Given the description of an element on the screen output the (x, y) to click on. 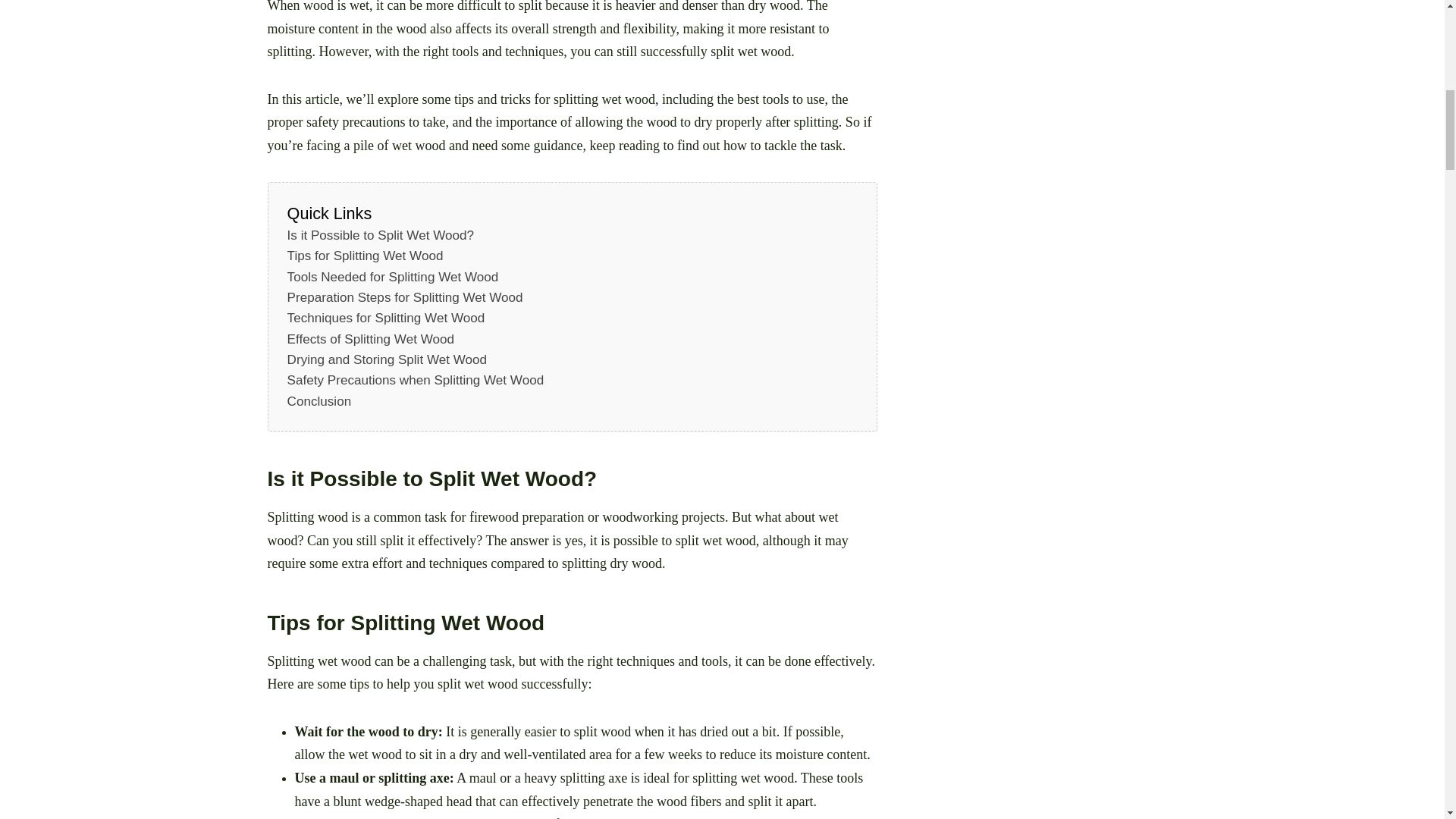
Effects of Splitting Wet Wood (370, 339)
Conclusion (319, 401)
Techniques for Splitting Wet Wood (385, 317)
Conclusion (319, 401)
Tips for Splitting Wet Wood (365, 255)
Preparation Steps for Splitting Wet Wood (404, 297)
Is it Possible to Split Wet Wood? (380, 235)
Is it Possible to Split Wet Wood? (380, 235)
Drying and Storing Split Wet Wood (386, 359)
Effects of Splitting Wet Wood (370, 339)
